Given the description of an element on the screen output the (x, y) to click on. 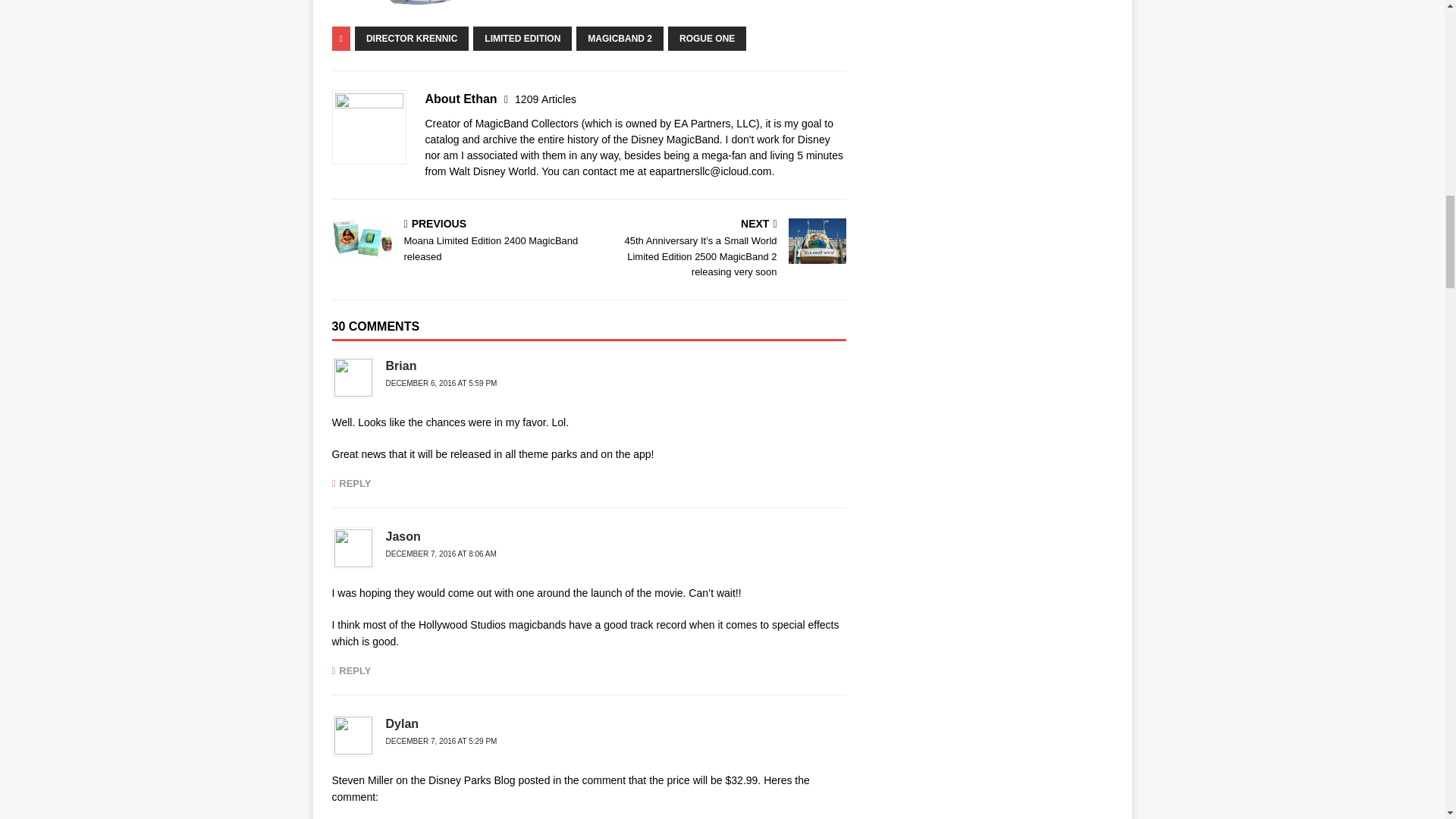
More articles written by Ethan' (545, 99)
Moana Limited Edition 2400 MagicBand released (362, 238)
